Given the description of an element on the screen output the (x, y) to click on. 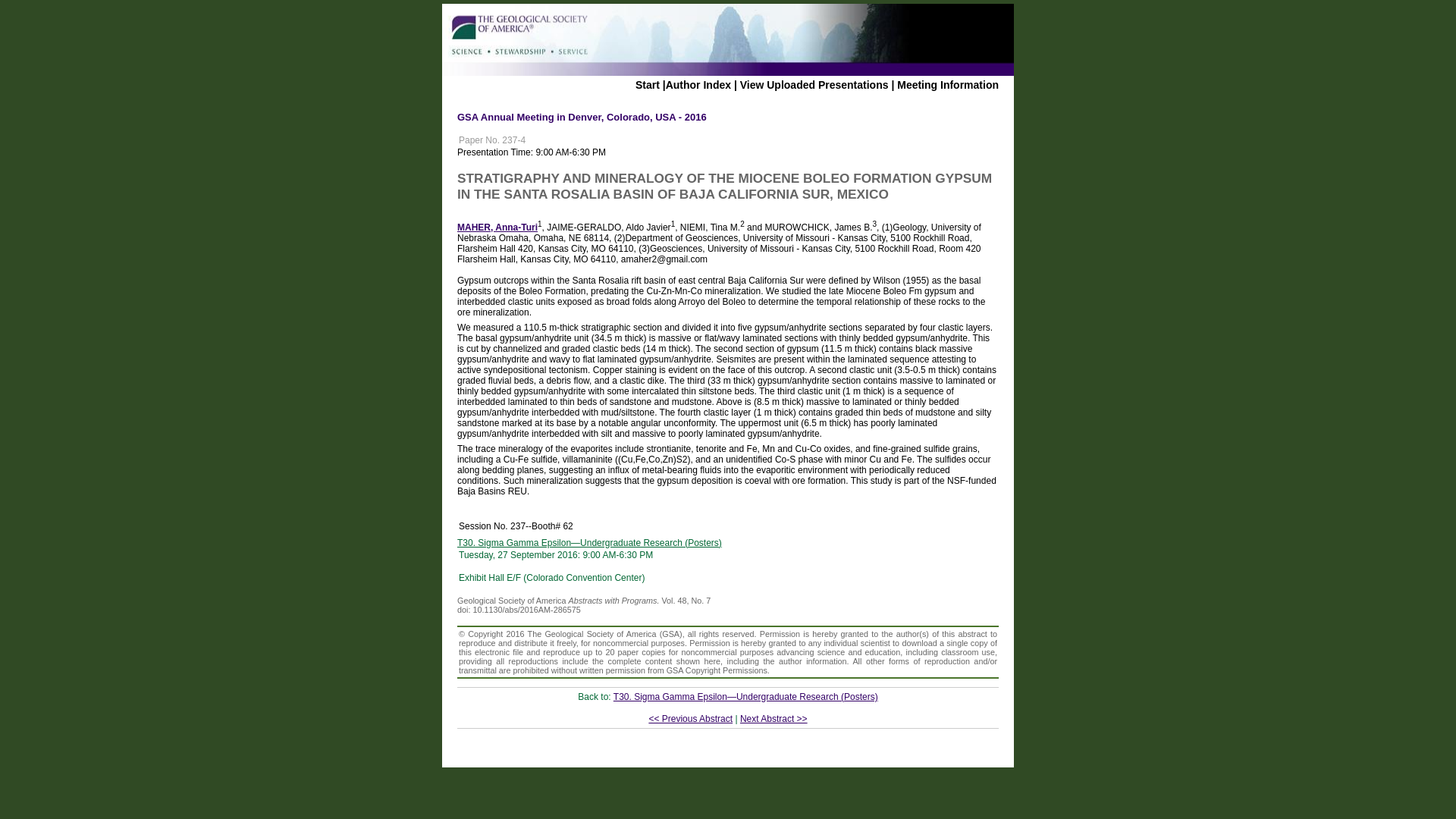
Start (646, 84)
View Uploaded Presentations (813, 84)
Author Index (697, 84)
Meeting Information (947, 84)
MAHER, Anna-Turi (497, 226)
